Given the description of an element on the screen output the (x, y) to click on. 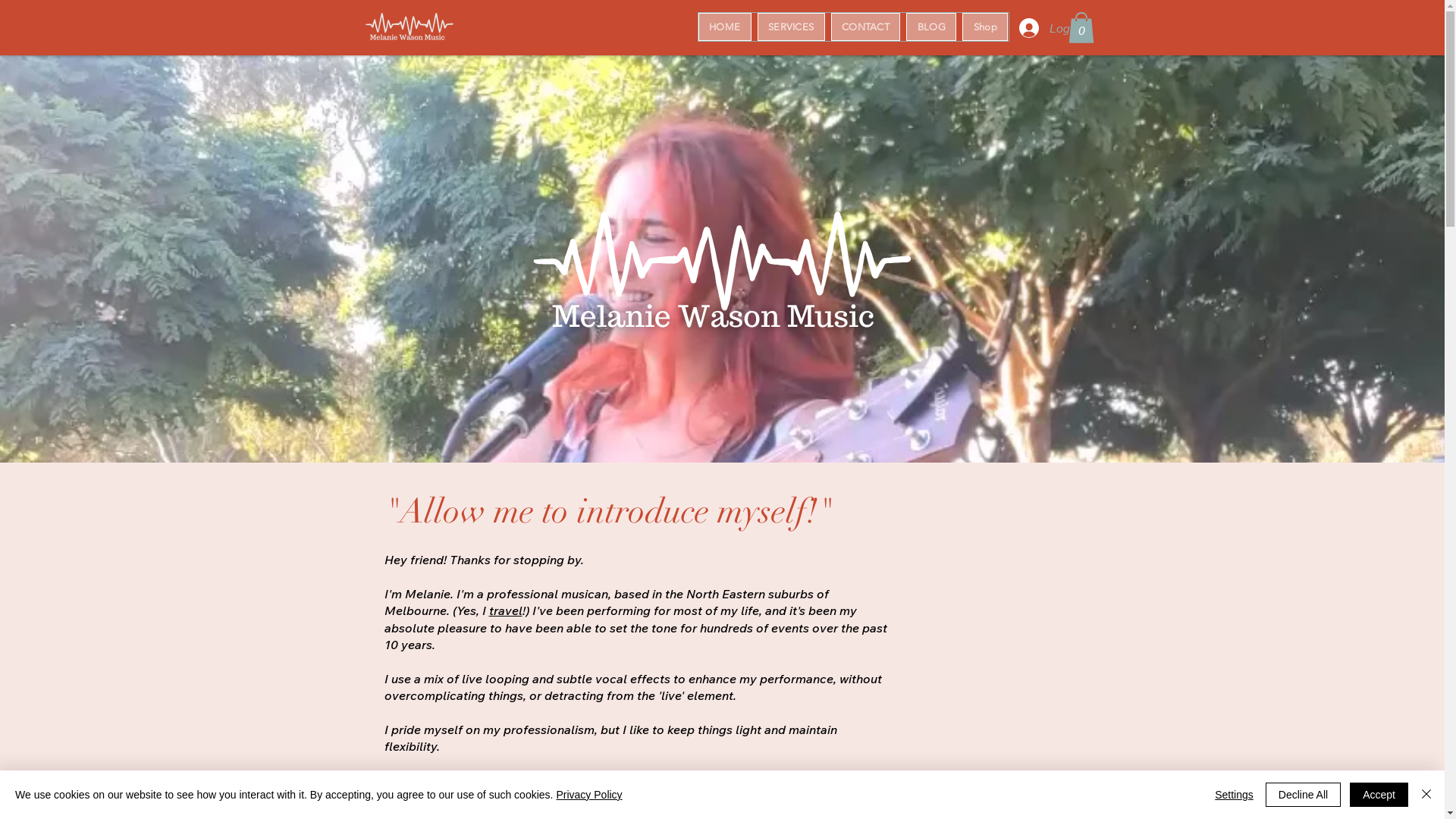
travel Element type: text (504, 610)
SERVICES Element type: text (791, 26)
Shop Element type: text (984, 26)
BLOG Element type: text (931, 26)
MWMusic White.png Element type: hover (721, 315)
Log In Element type: text (1041, 27)
CONTACT Element type: text (865, 26)
Decline All Element type: text (1302, 794)
HOME Element type: text (723, 26)
Privacy Policy Element type: text (588, 794)
0 Element type: text (1080, 27)
Accept Element type: text (1378, 794)
